Given the description of an element on the screen output the (x, y) to click on. 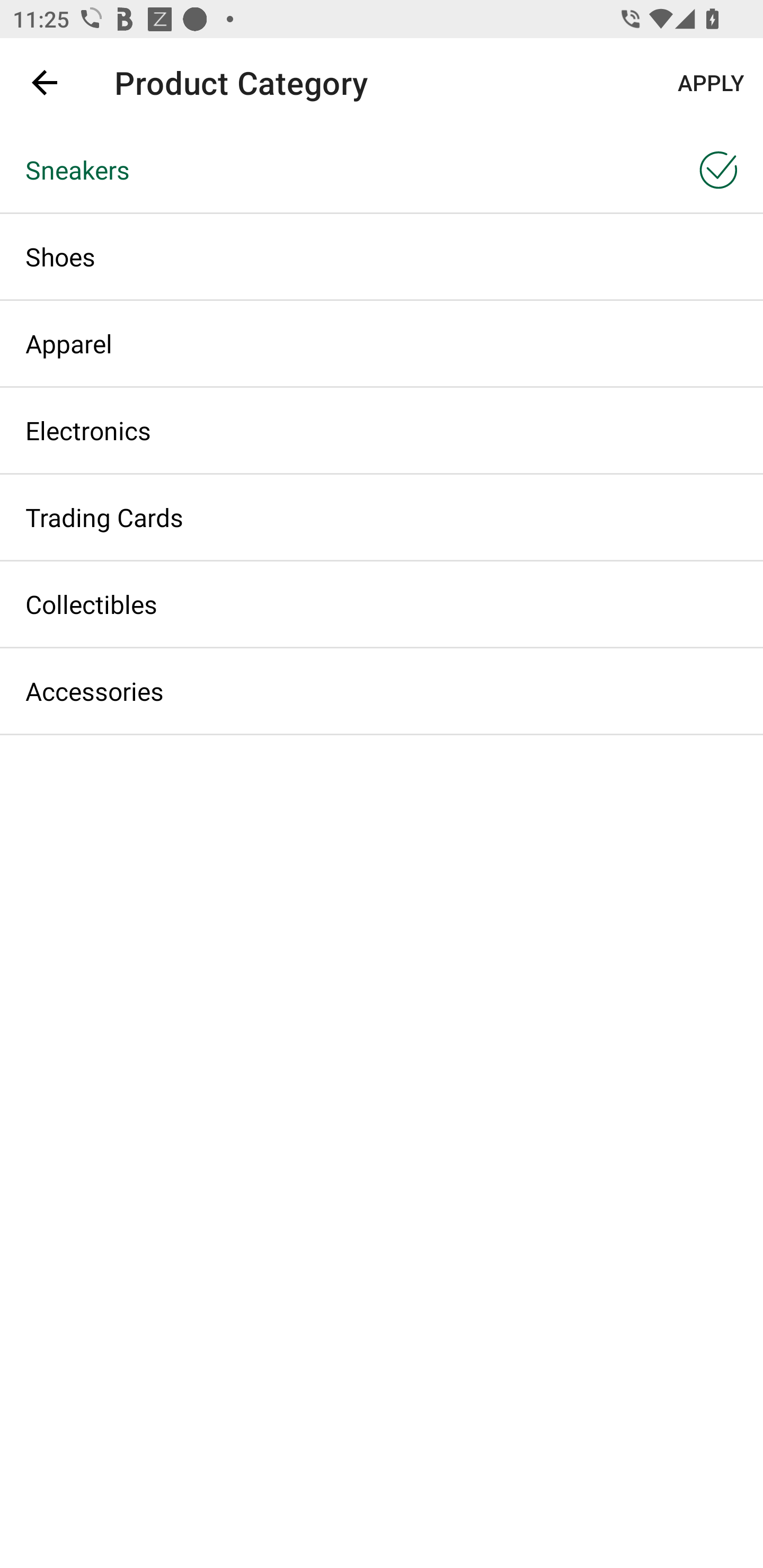
flats (370, 82)
Sneakers Next (381, 169)
List View (697, 171)
Shoes (381, 256)
Apparel (381, 343)
Electronics (381, 430)
Trading Cards (381, 517)
Collectibles (381, 603)
Accessories (381, 691)
